Given the description of an element on the screen output the (x, y) to click on. 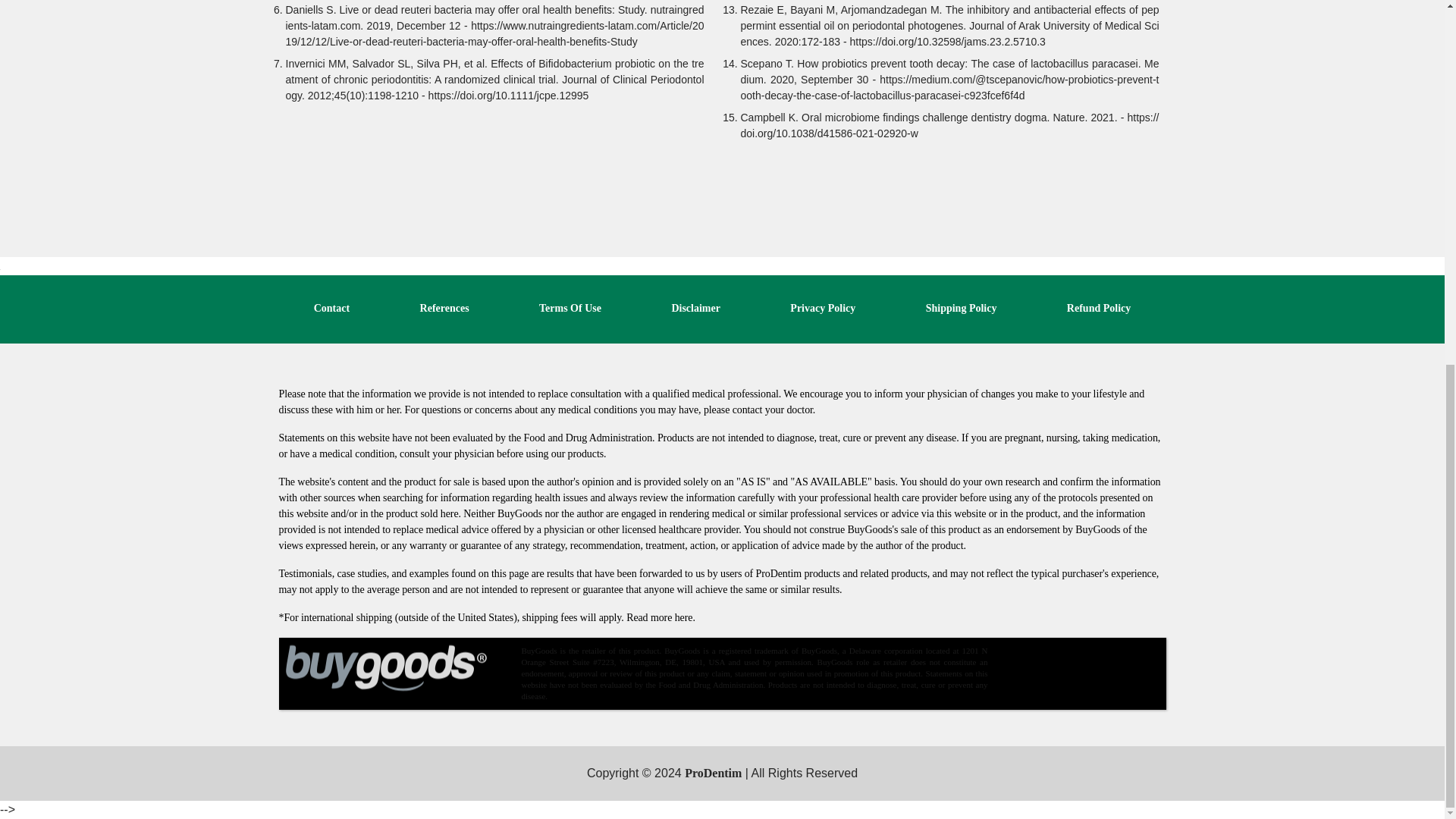
Privacy Policy (823, 307)
Shipping Policy (961, 307)
Refund Policy (1099, 307)
Read more here (659, 617)
References (444, 307)
Contact (331, 307)
Terms Of Use (569, 307)
Disclaimer (695, 307)
